Given the description of an element on the screen output the (x, y) to click on. 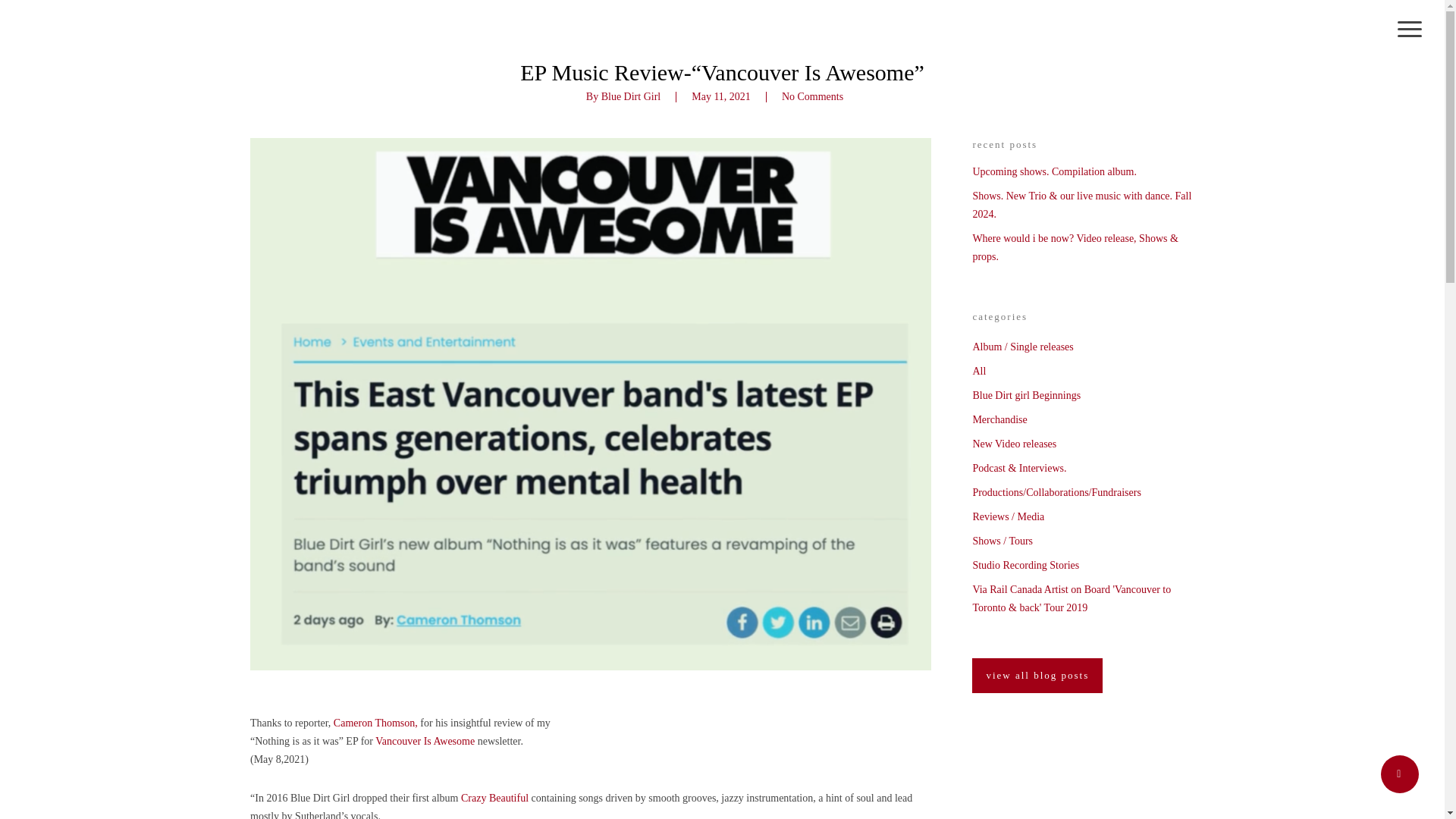
Blue Dirt girl Beginnings (1082, 395)
Upcoming shows. Compilation album. (1082, 171)
Blue Dirt Girl (631, 96)
Cameron Thomson, (375, 722)
New Video releases (1082, 443)
view all blog posts (1037, 675)
Vancouver Is Awesome (426, 740)
Posts by Blue Dirt Girl (631, 96)
Merchandise (1082, 420)
Crazy Beautiful  (496, 797)
